Given the description of an element on the screen output the (x, y) to click on. 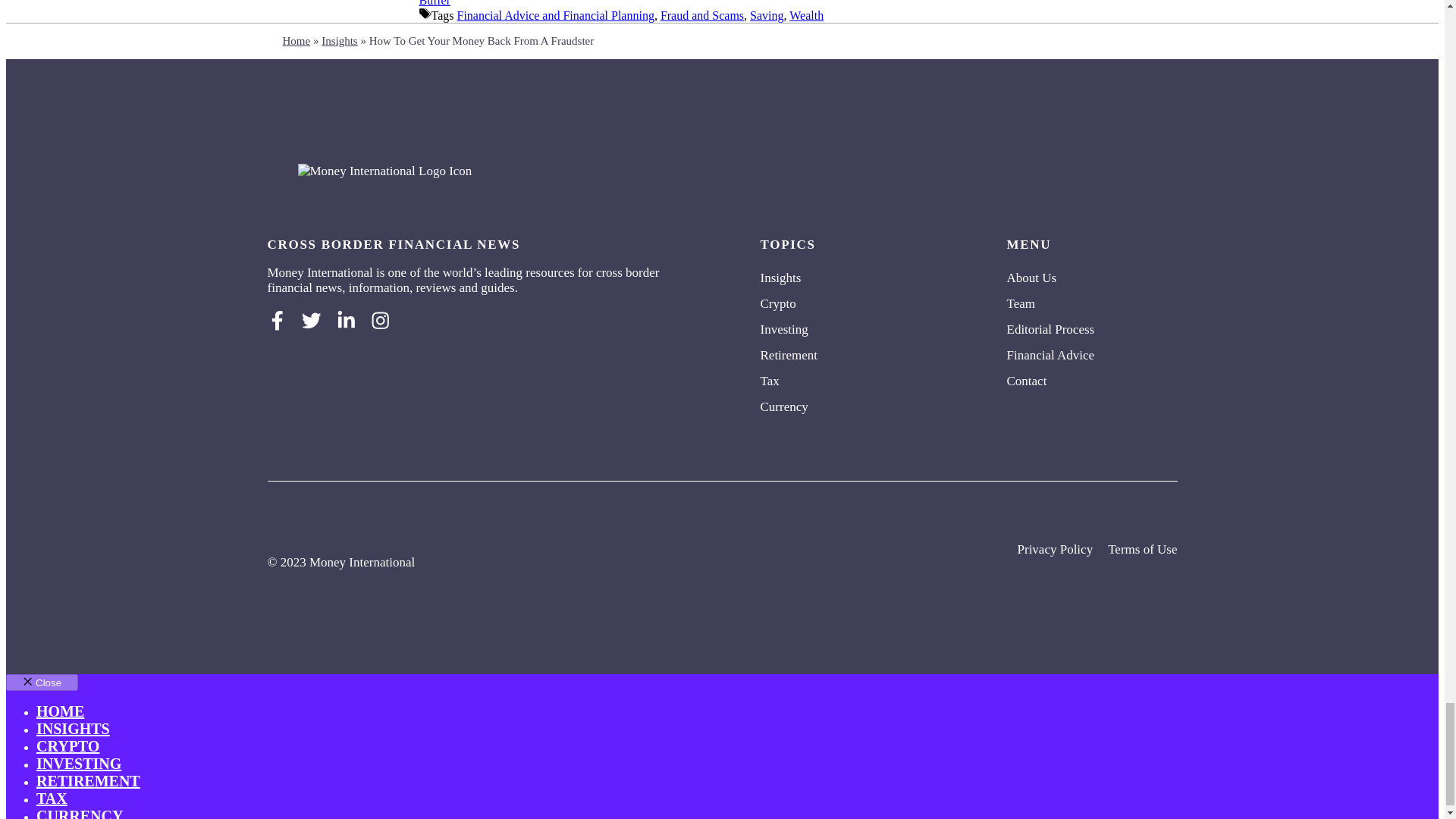
Fraud and Scams (702, 15)
Insights (782, 277)
Home (296, 40)
Wealth (806, 15)
Insights (339, 40)
Financial Advice and Financial Planning (555, 15)
Crypto (779, 303)
Saving (766, 15)
